Given the description of an element on the screen output the (x, y) to click on. 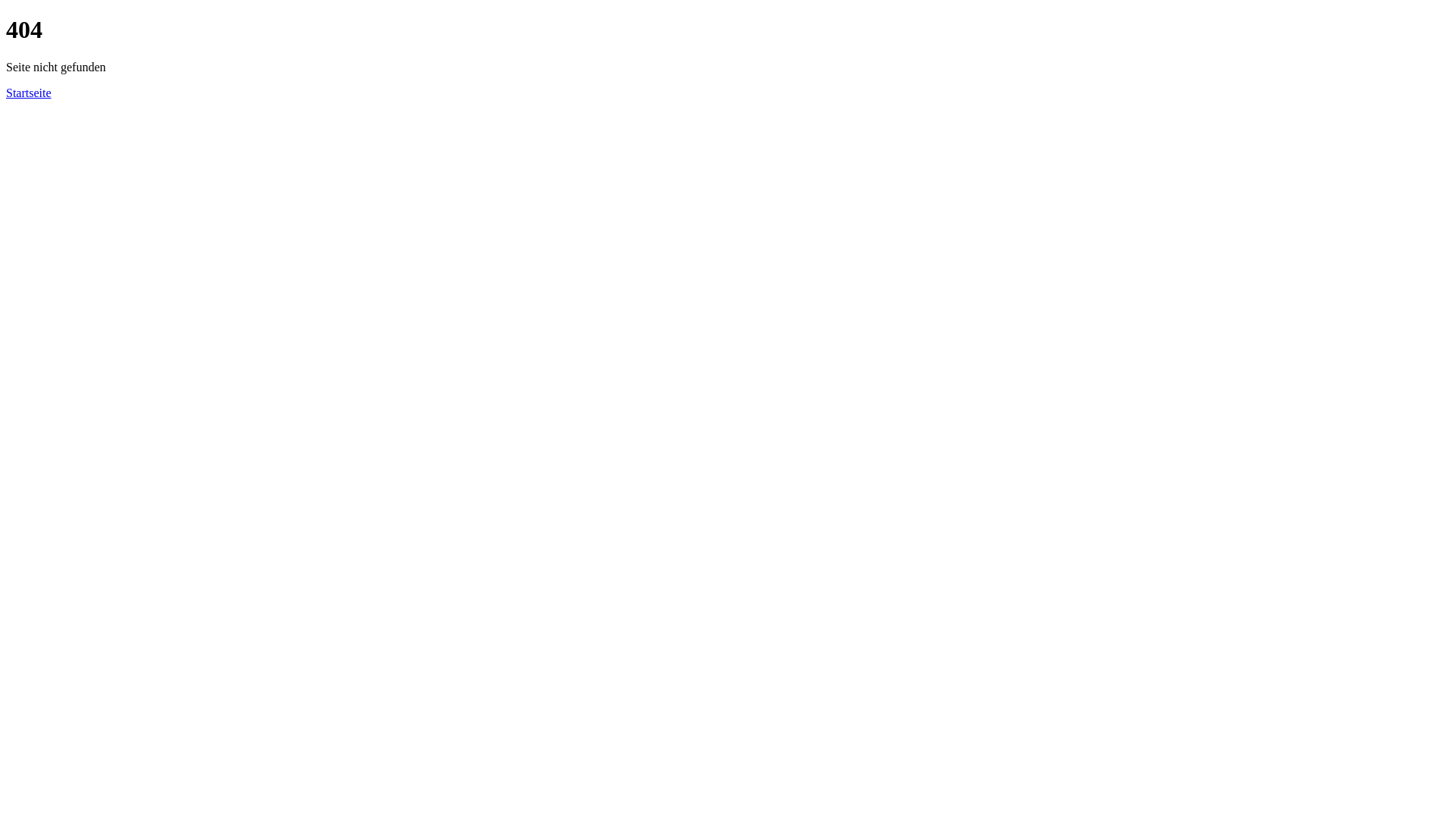
Startseite Element type: text (28, 92)
